Given the description of an element on the screen output the (x, y) to click on. 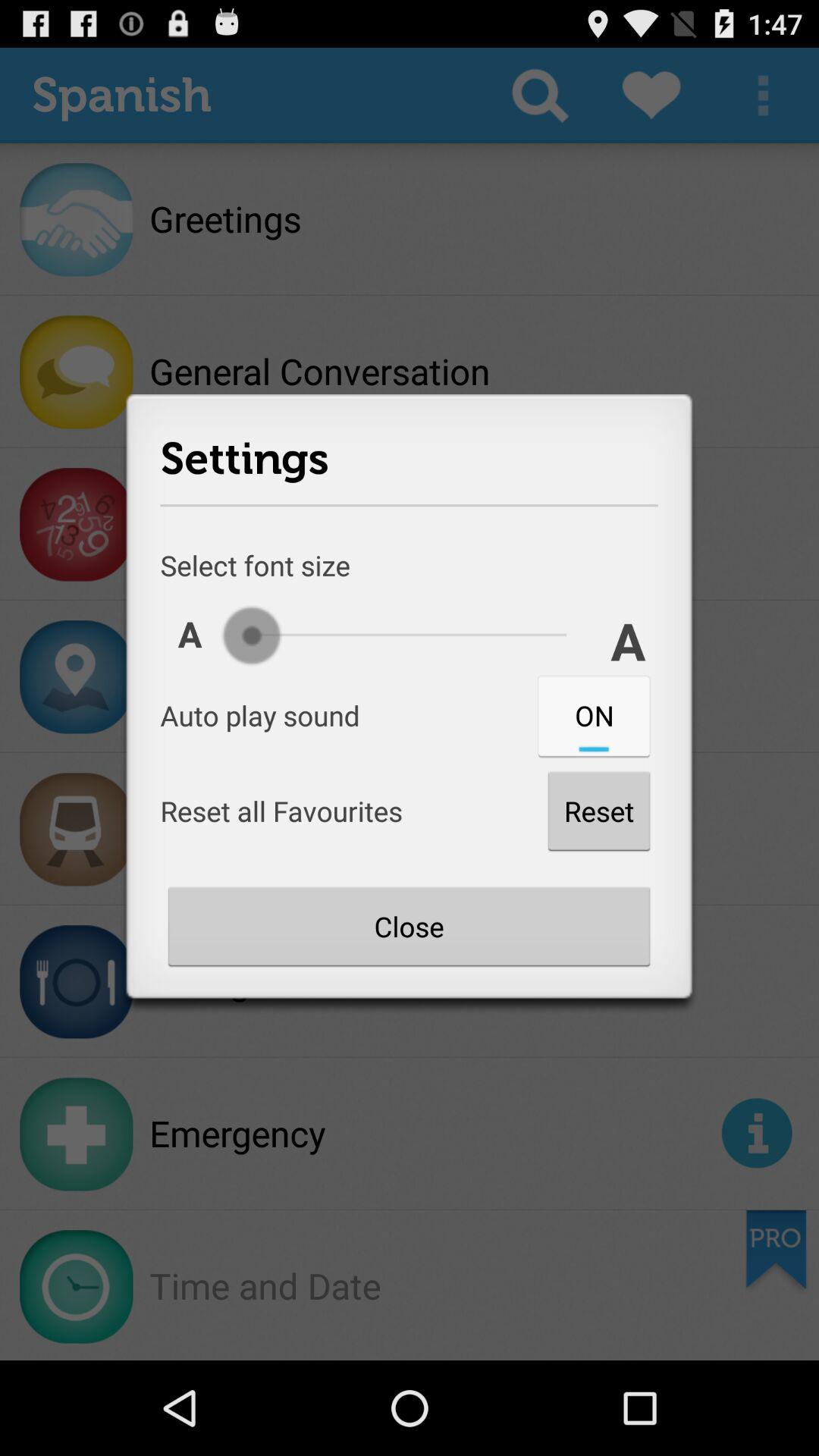
launch icon next to auto play sound (594, 715)
